Given the description of an element on the screen output the (x, y) to click on. 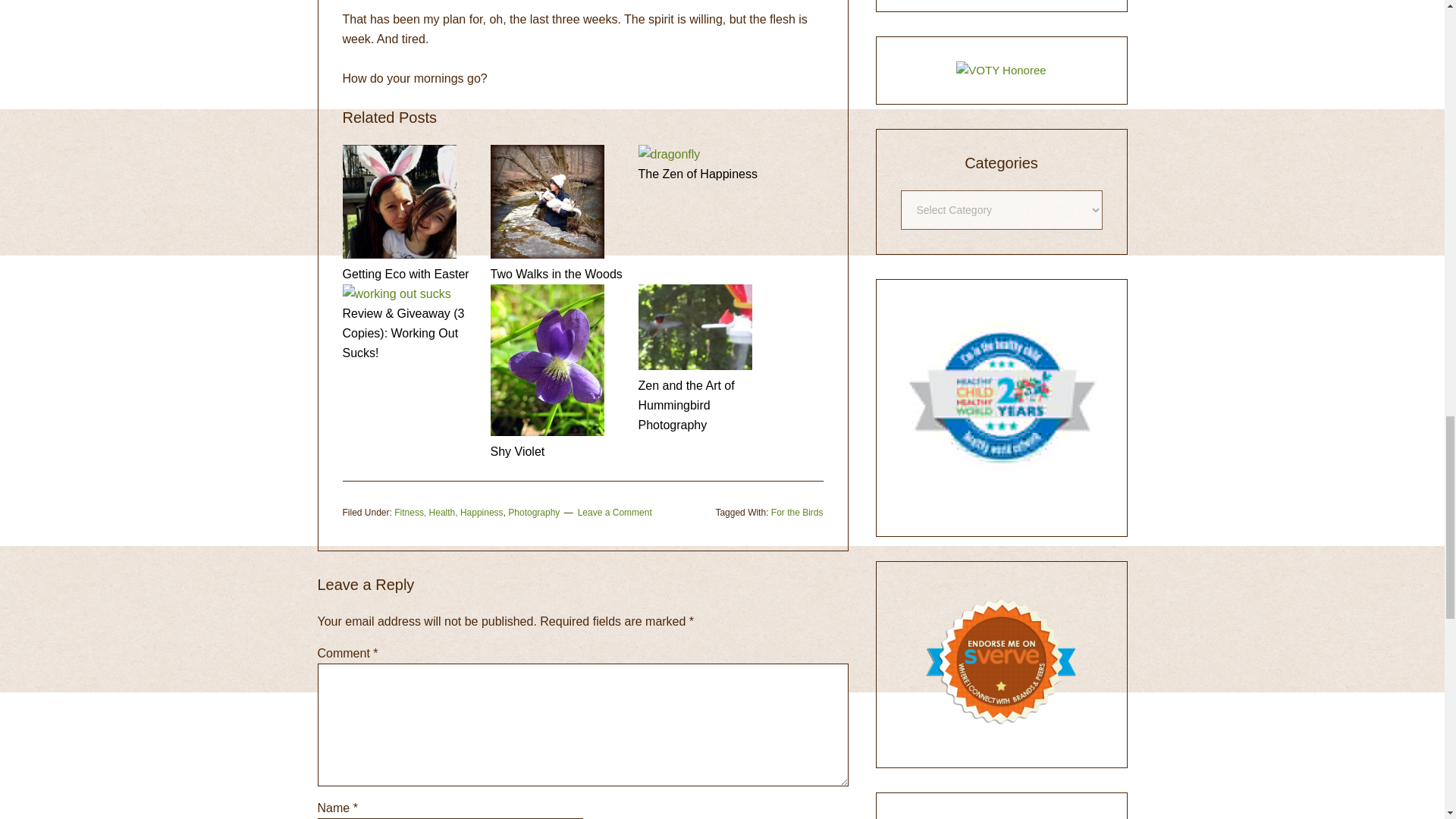
Getting Eco with Easter (410, 274)
Zen and the Art of Hummingbird Photography (706, 404)
Fitness, Health, Happiness (448, 511)
Photography (533, 511)
For the Birds (797, 511)
The Zen of Happiness (706, 174)
VOTY Honoree  (1000, 70)
Two Walks in the Woods (557, 274)
Leave a Comment (615, 511)
Shy Violet (557, 451)
